Given the description of an element on the screen output the (x, y) to click on. 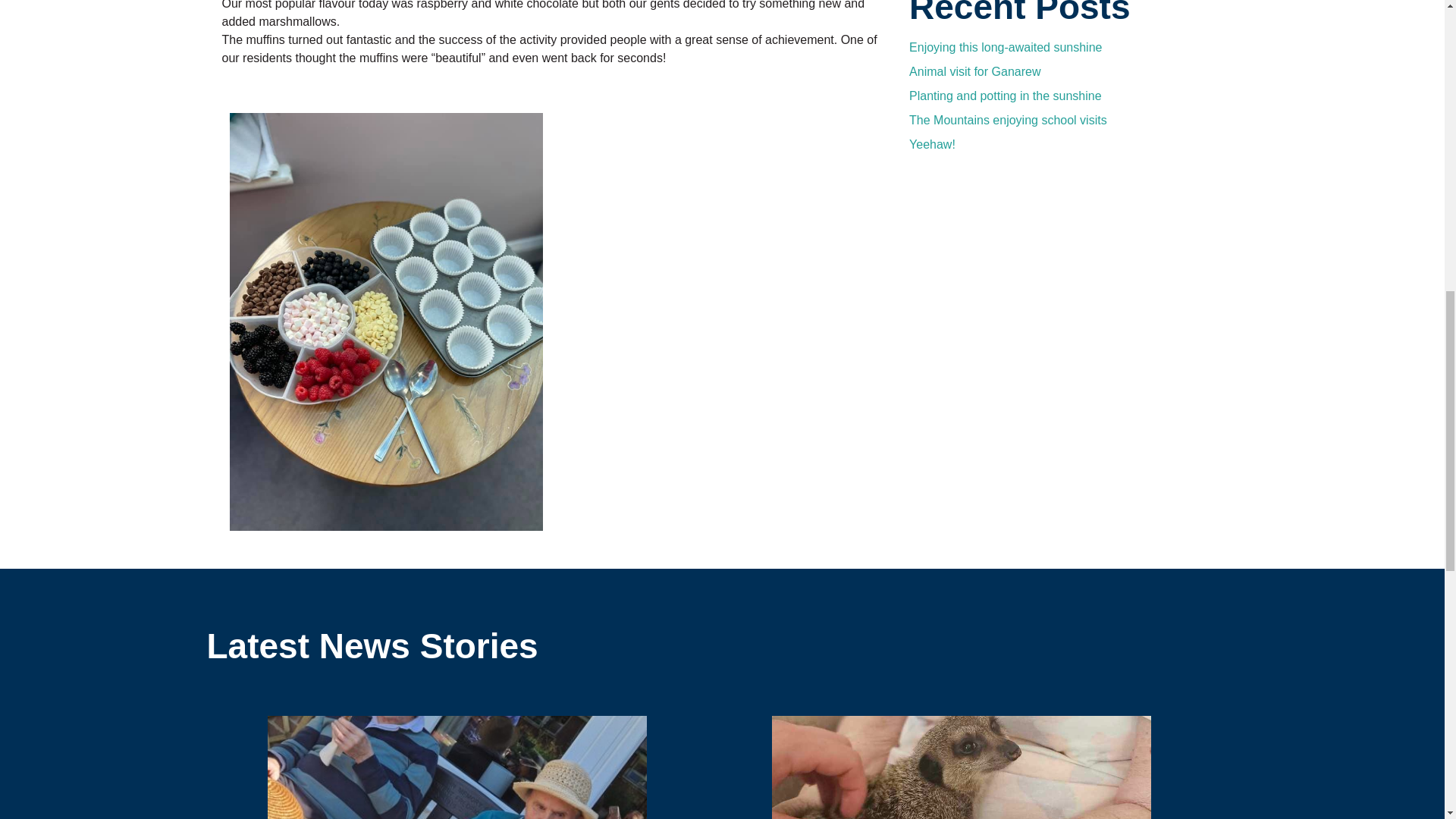
Planting and potting in the sunshine (1005, 95)
Animal visit for Ganarew (974, 71)
Yeehaw! (931, 144)
Enjoying this long-awaited sunshine (1005, 47)
The Mountains enjoying school visits (1007, 119)
